Given the description of an element on the screen output the (x, y) to click on. 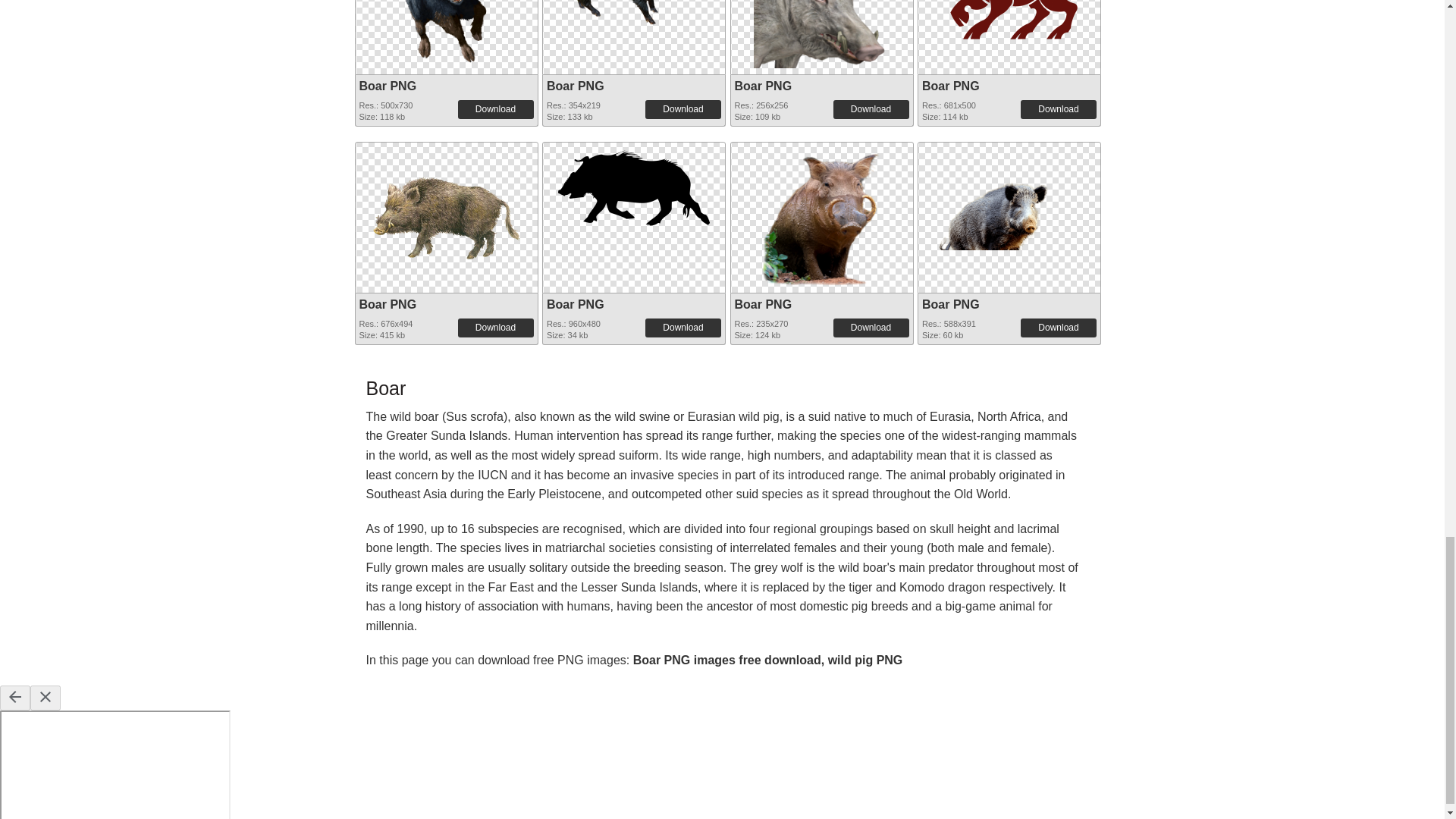
Download (682, 108)
Download (870, 108)
Boar PNG (821, 33)
Boar PNG (445, 33)
Boar PNG (575, 85)
Boar PNG (445, 1)
Boar PNG (387, 85)
Download (496, 108)
Boar PNG (762, 85)
Boar PNG (633, 12)
Download (1058, 108)
Boar PNG (821, 1)
Boar PNG (950, 85)
